Given the description of an element on the screen output the (x, y) to click on. 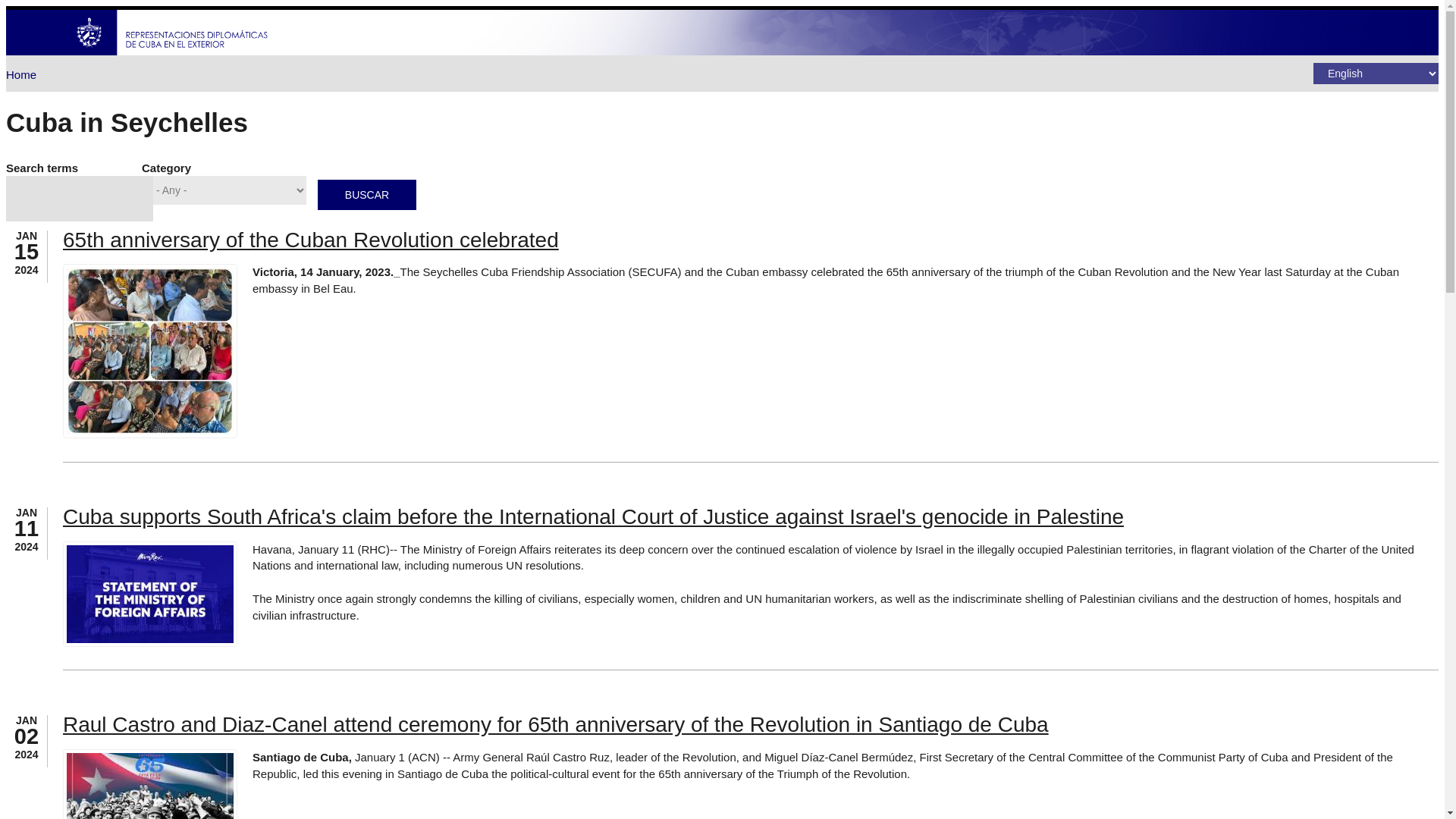
Buscar (366, 194)
Home (20, 74)
Buscar (366, 194)
Enter the terms you wish to search for. (78, 198)
Home (172, 51)
65th anniversary of the Cuban Revolution celebrated (310, 239)
